Given the description of an element on the screen output the (x, y) to click on. 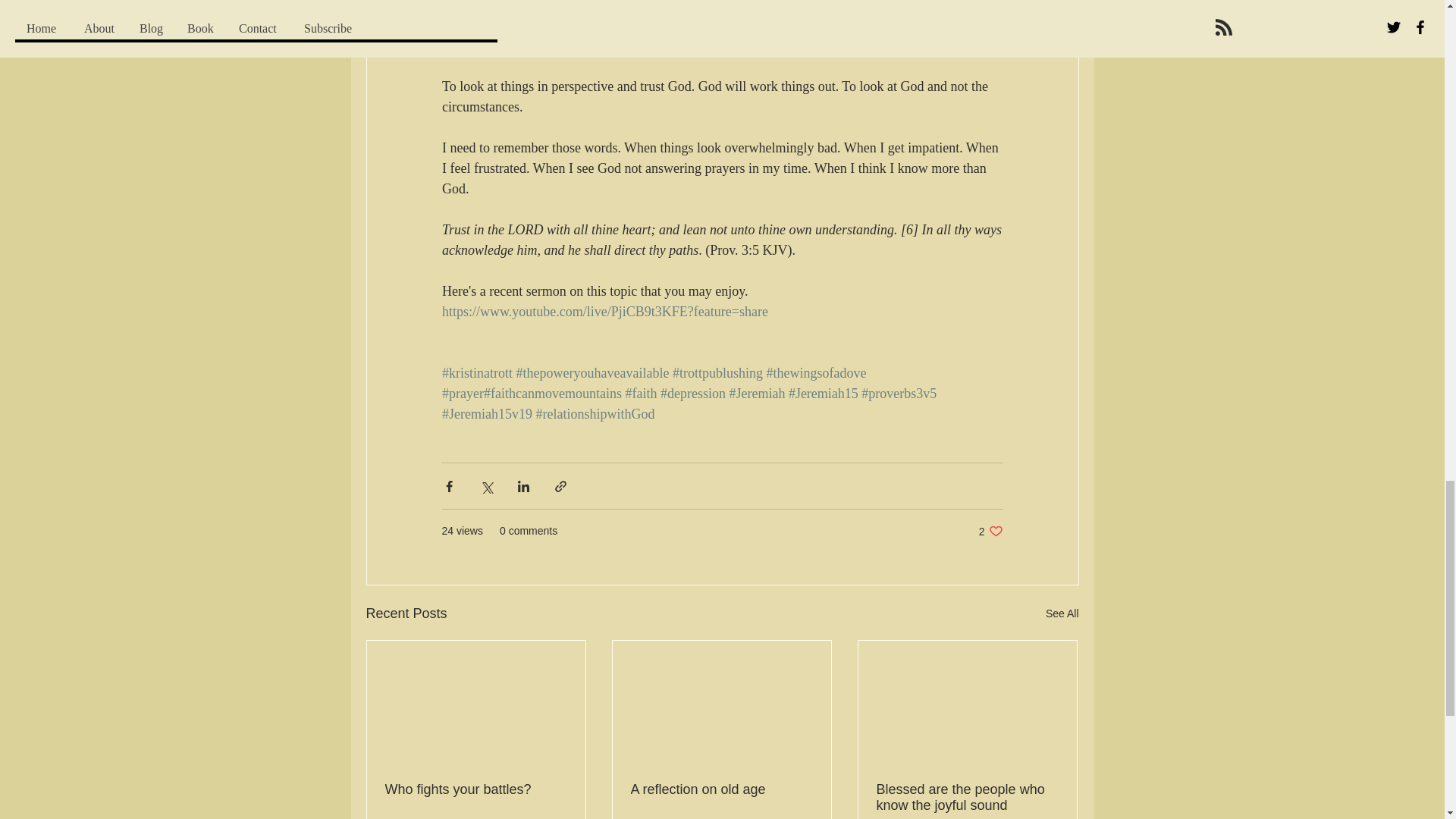
Who fights your battles? (990, 531)
See All (476, 789)
A reflection on old age (1061, 613)
